Given the description of an element on the screen output the (x, y) to click on. 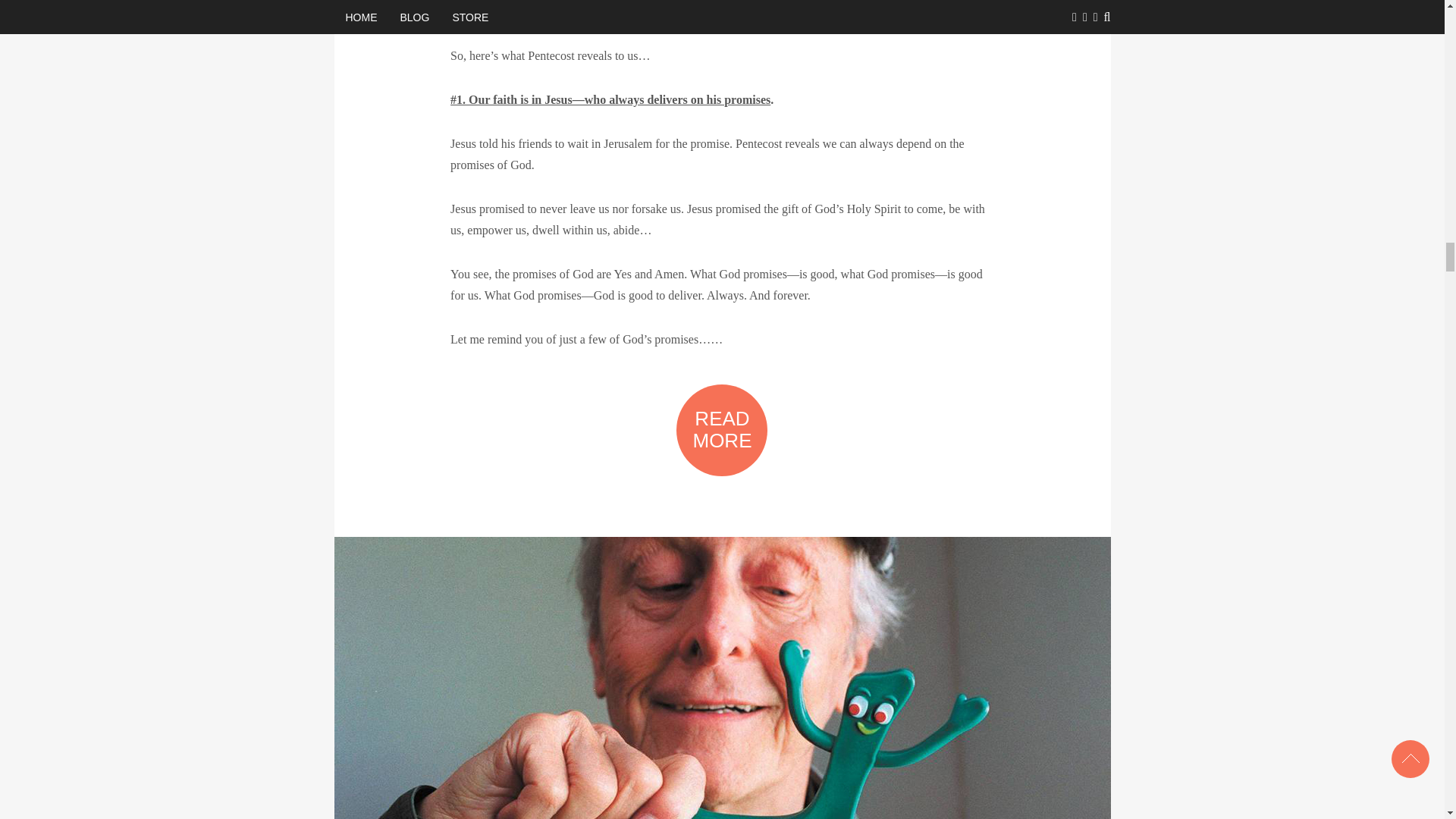
READ MORE (722, 429)
